Given the description of an element on the screen output the (x, y) to click on. 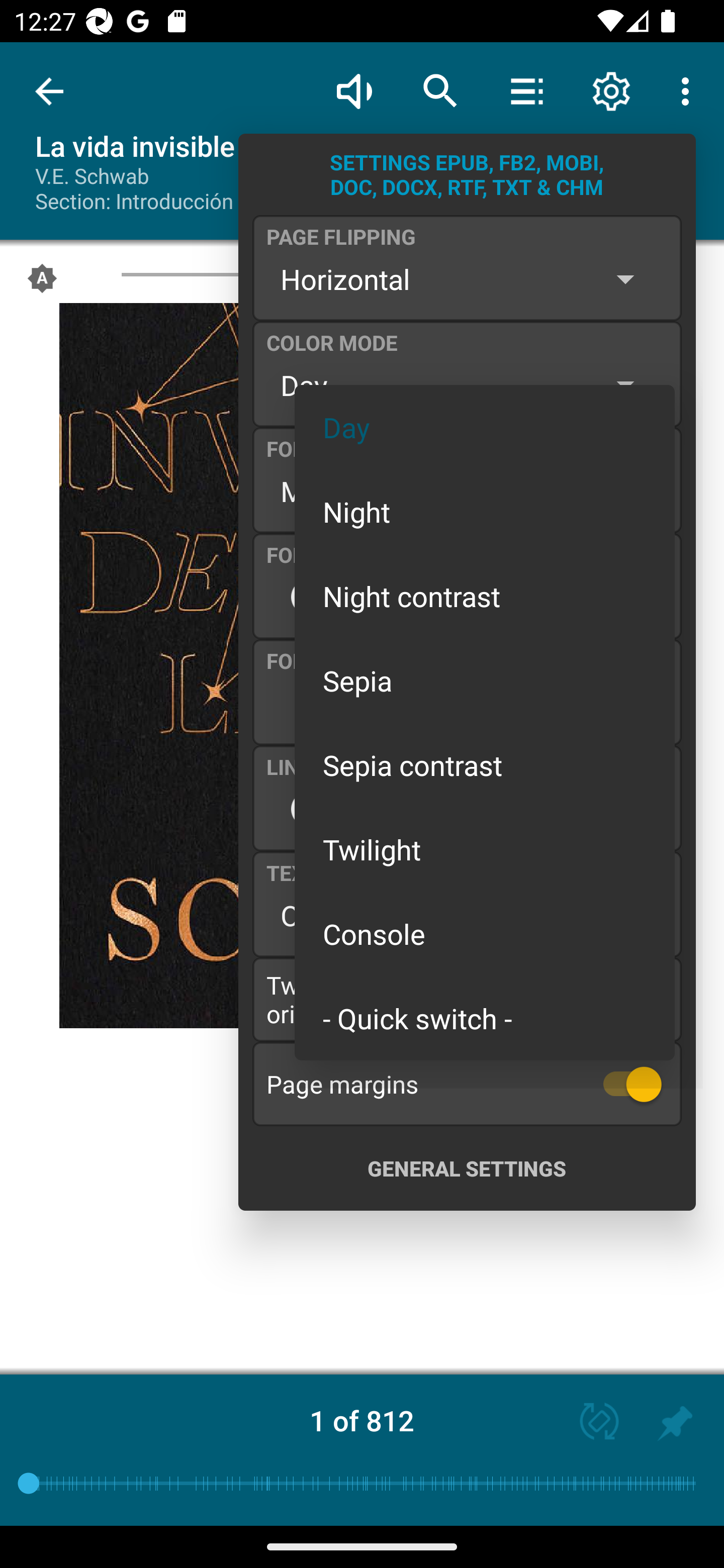
Day (484, 426)
Night (484, 510)
Night contrast (484, 595)
Sepia (484, 680)
Sepia contrast (484, 764)
Twilight (484, 849)
Console (484, 933)
- Quick switch - (484, 1017)
